Given the description of an element on the screen output the (x, y) to click on. 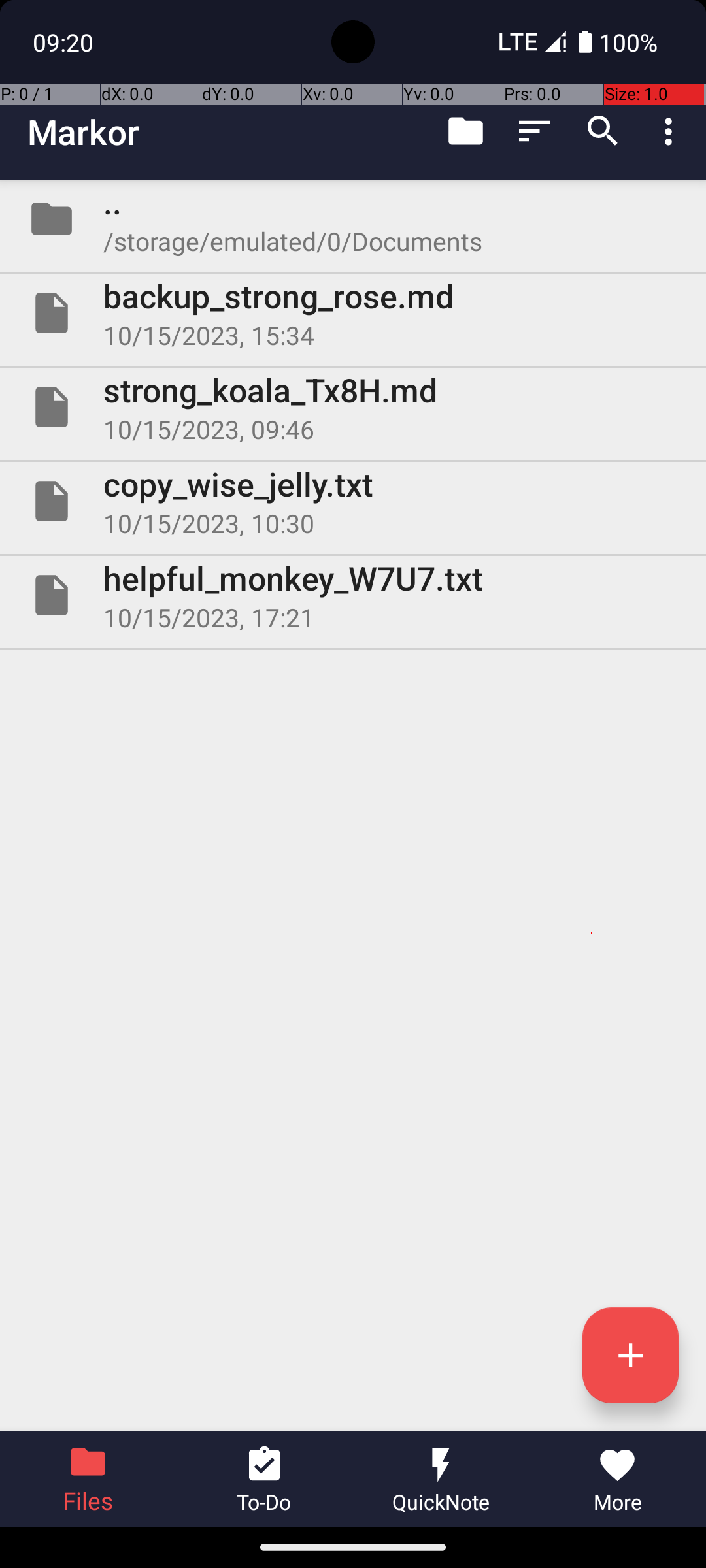
File backup_strong_rose.md  Element type: android.widget.LinearLayout (353, 312)
File strong_koala_Tx8H.md  Element type: android.widget.LinearLayout (353, 406)
File copy_wise_jelly.txt  Element type: android.widget.LinearLayout (353, 500)
File helpful_monkey_W7U7.txt  Element type: android.widget.LinearLayout (353, 594)
09:20 Element type: android.widget.TextView (64, 41)
